Given the description of an element on the screen output the (x, y) to click on. 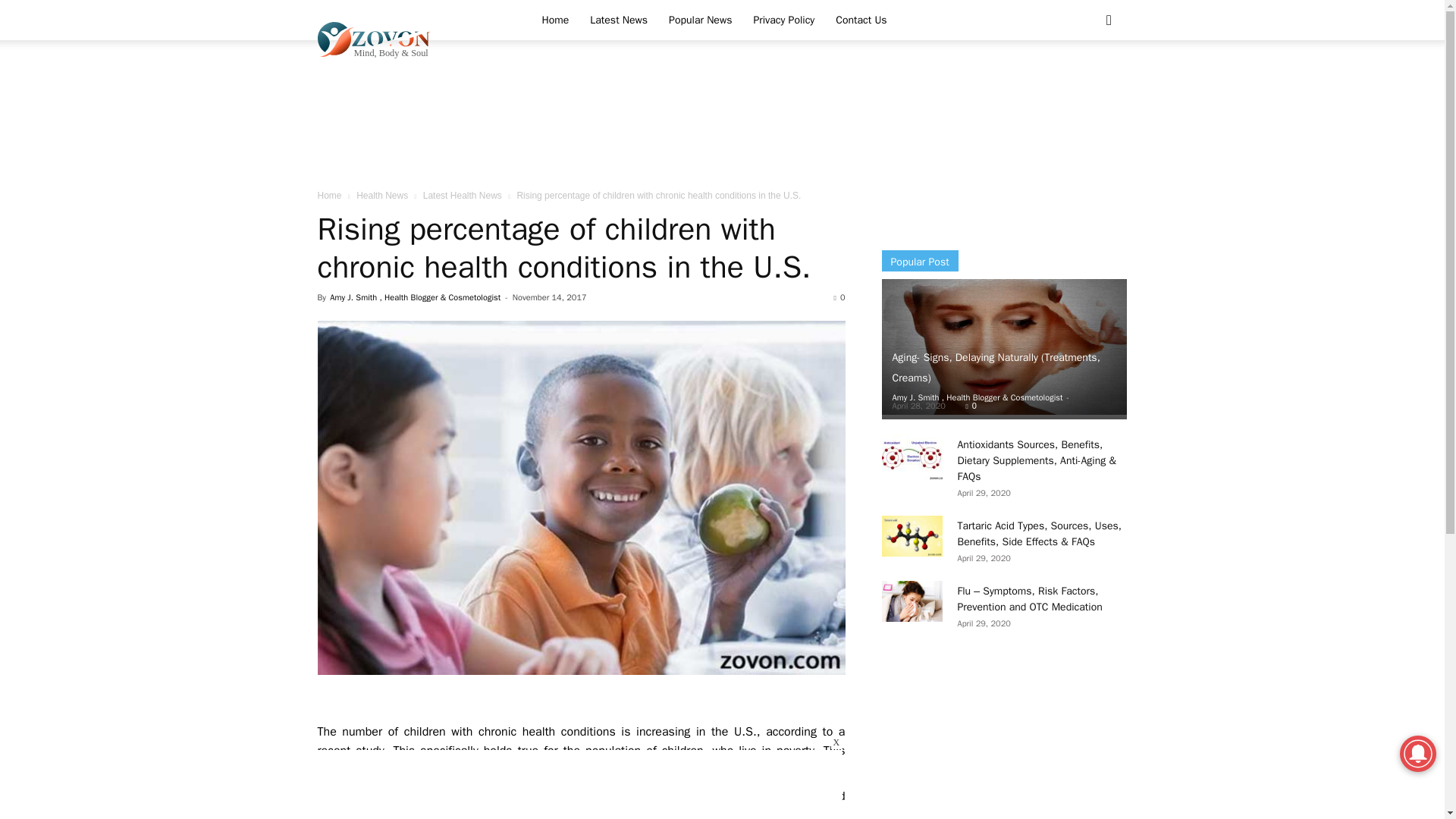
Latest Health News (462, 195)
Home (328, 195)
Health News (381, 195)
View all posts in Health News (381, 195)
Search (1085, 82)
0 (839, 296)
Go to top (564, 784)
Advertisement (564, 784)
Latest News (618, 20)
Contact Us (860, 20)
Privacy Policy (783, 20)
Popular News (700, 20)
View all posts in Latest Health News (462, 195)
Advertisement (721, 125)
0 (969, 406)
